Given the description of an element on the screen output the (x, y) to click on. 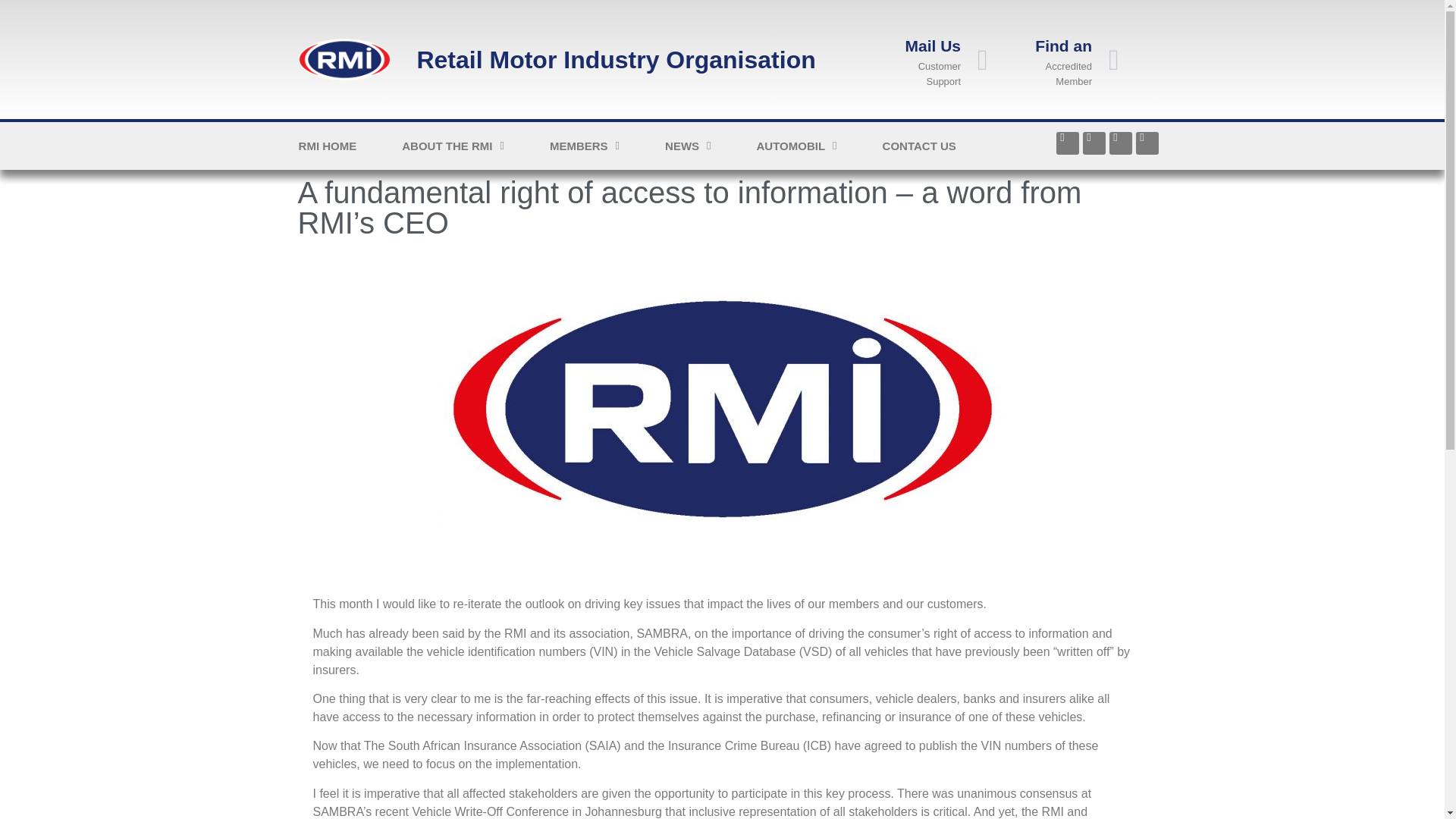
Mail Us (932, 45)
NEWS (687, 146)
Find an (1063, 45)
RMI HOME (328, 146)
Retail Motor Industry Organisation (615, 59)
ABOUT THE RMI (452, 146)
MEMBERS (584, 146)
